Given the description of an element on the screen output the (x, y) to click on. 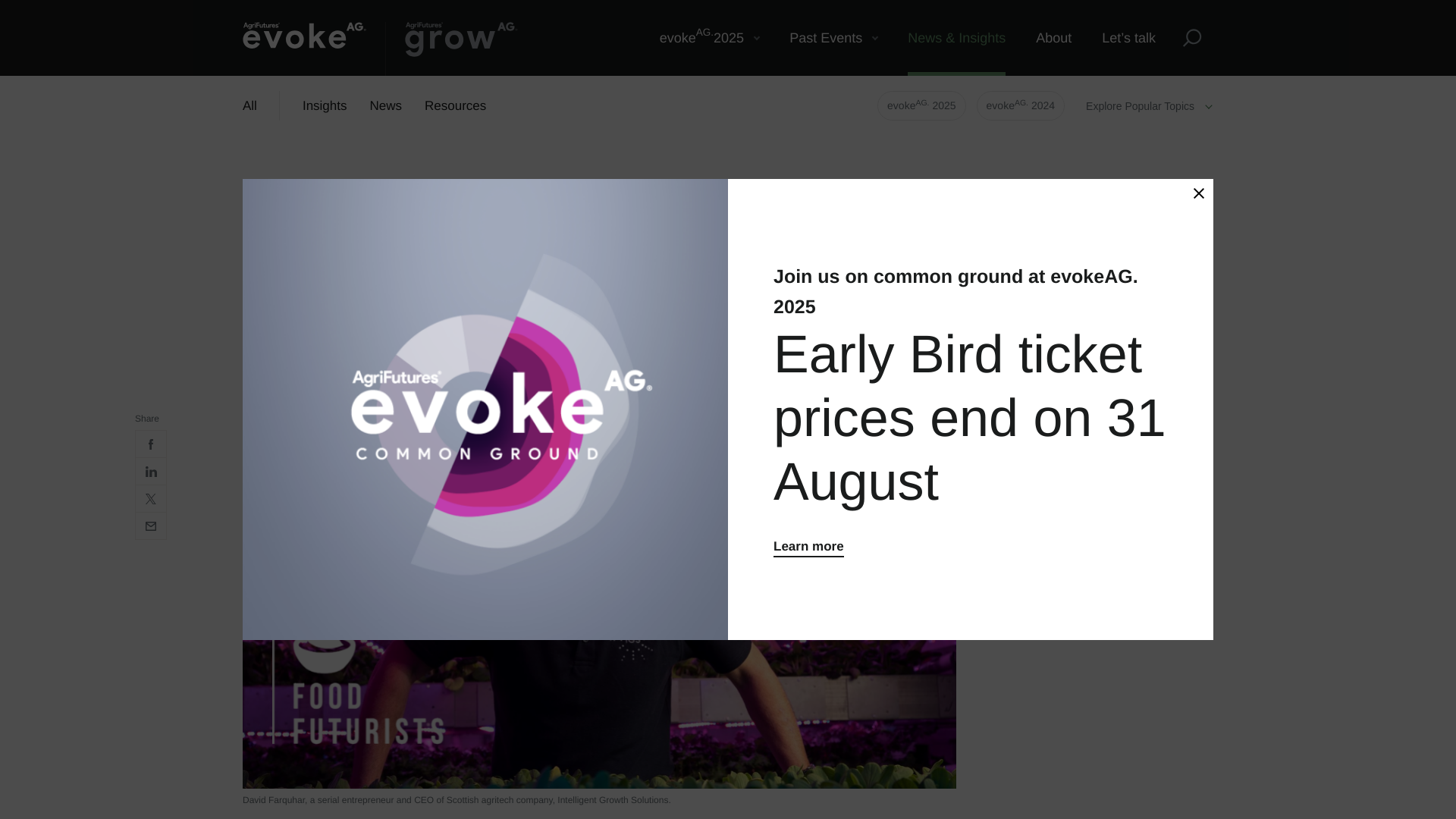
Explore Popular Topics (1149, 105)
Learn more (808, 546)
evokeAG. 2025 (921, 104)
Past Events (833, 38)
evokeAG. 2024 (709, 38)
Go to evokeAG. homepage (1020, 104)
Resources (304, 49)
close popup (455, 105)
